Given the description of an element on the screen output the (x, y) to click on. 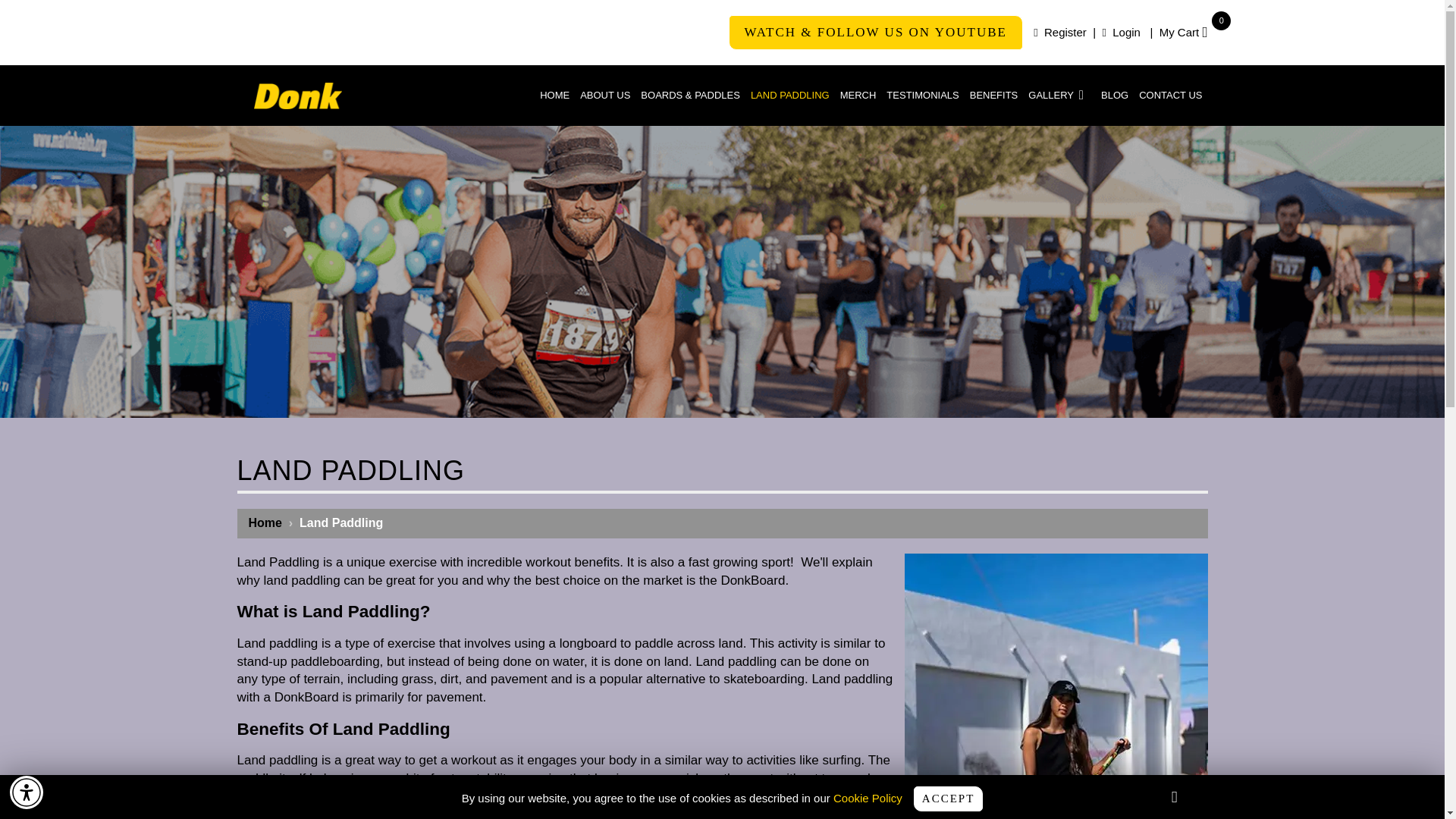
TESTIMONIALS (921, 95)
CONTACT US (1183, 31)
  Register (1170, 95)
LAND PADDLING (1059, 31)
GALLERY (789, 95)
HOME (1059, 95)
MERCH (554, 95)
Home (858, 95)
  Login (265, 522)
ABOUT US (1121, 31)
BLOG (604, 95)
Accessibility Menu (1115, 95)
BENEFITS (26, 792)
